Given the description of an element on the screen output the (x, y) to click on. 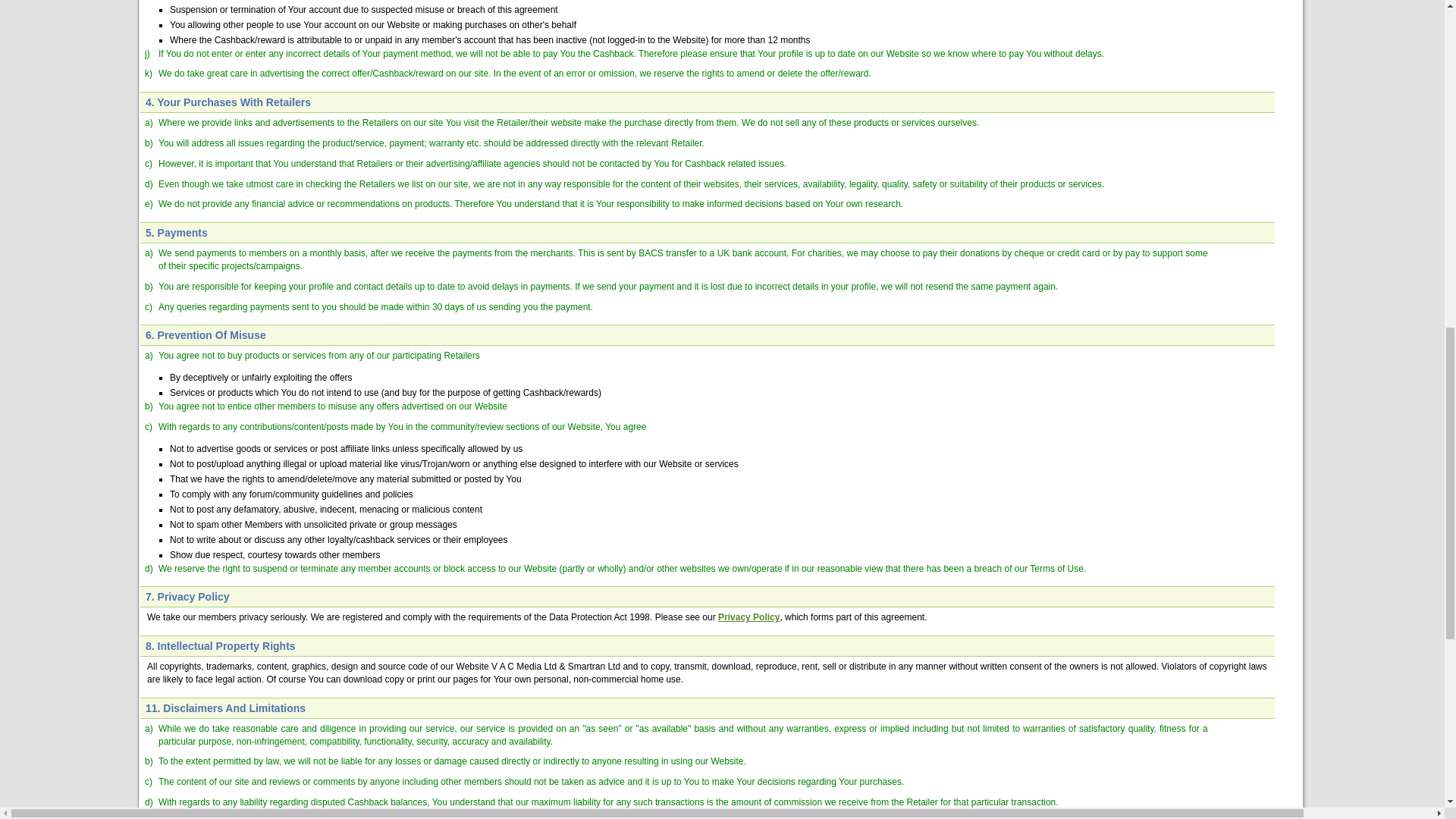
Privacy Policy (747, 616)
